Given the description of an element on the screen output the (x, y) to click on. 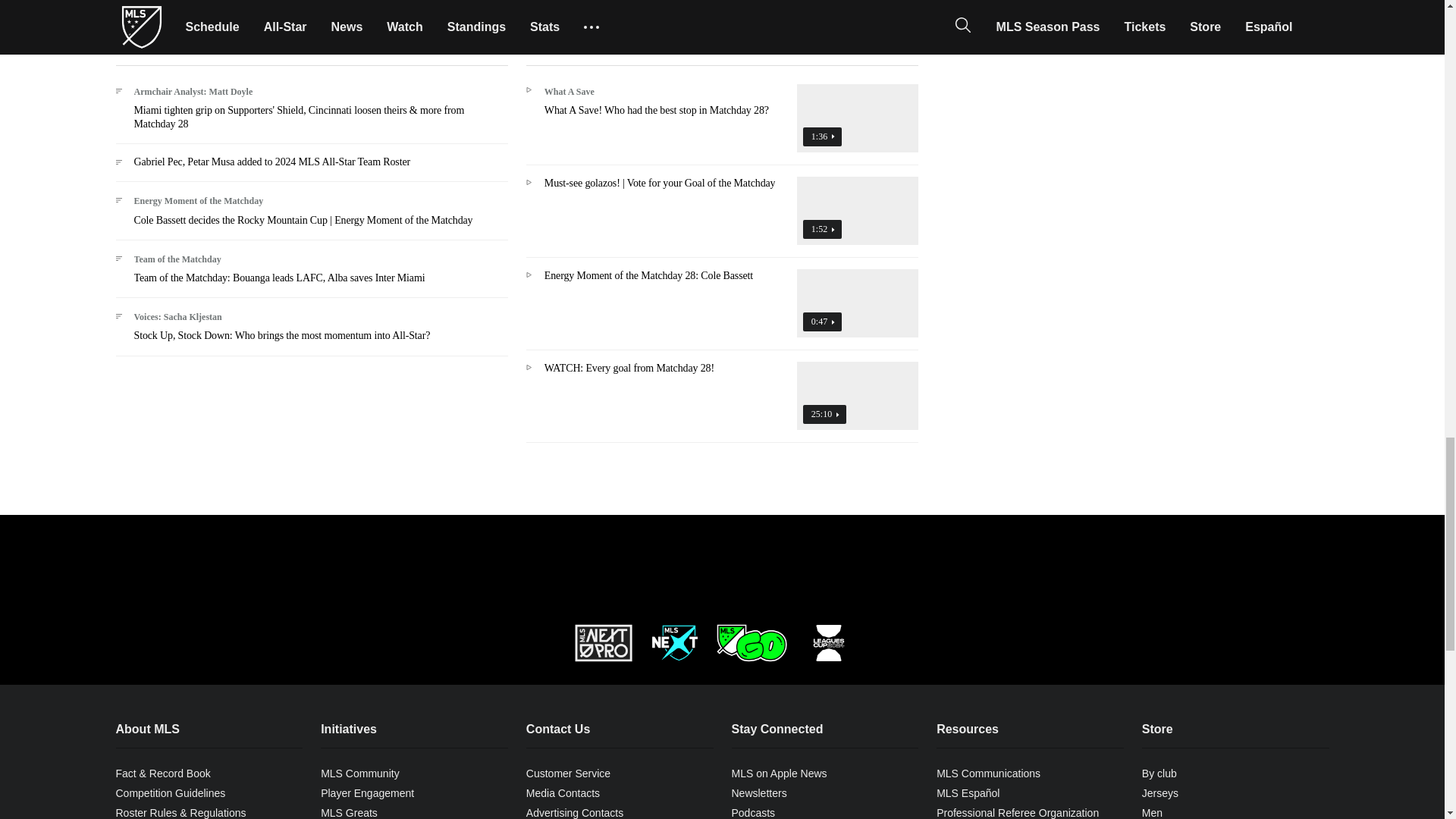
WATCH: Every goal from Matchday 28! (721, 401)
What A Save! Who had the best stop in Matchday 28? (721, 124)
Energy Moment of the Matchday 28: Cole Bassett (721, 309)
